Given the description of an element on the screen output the (x, y) to click on. 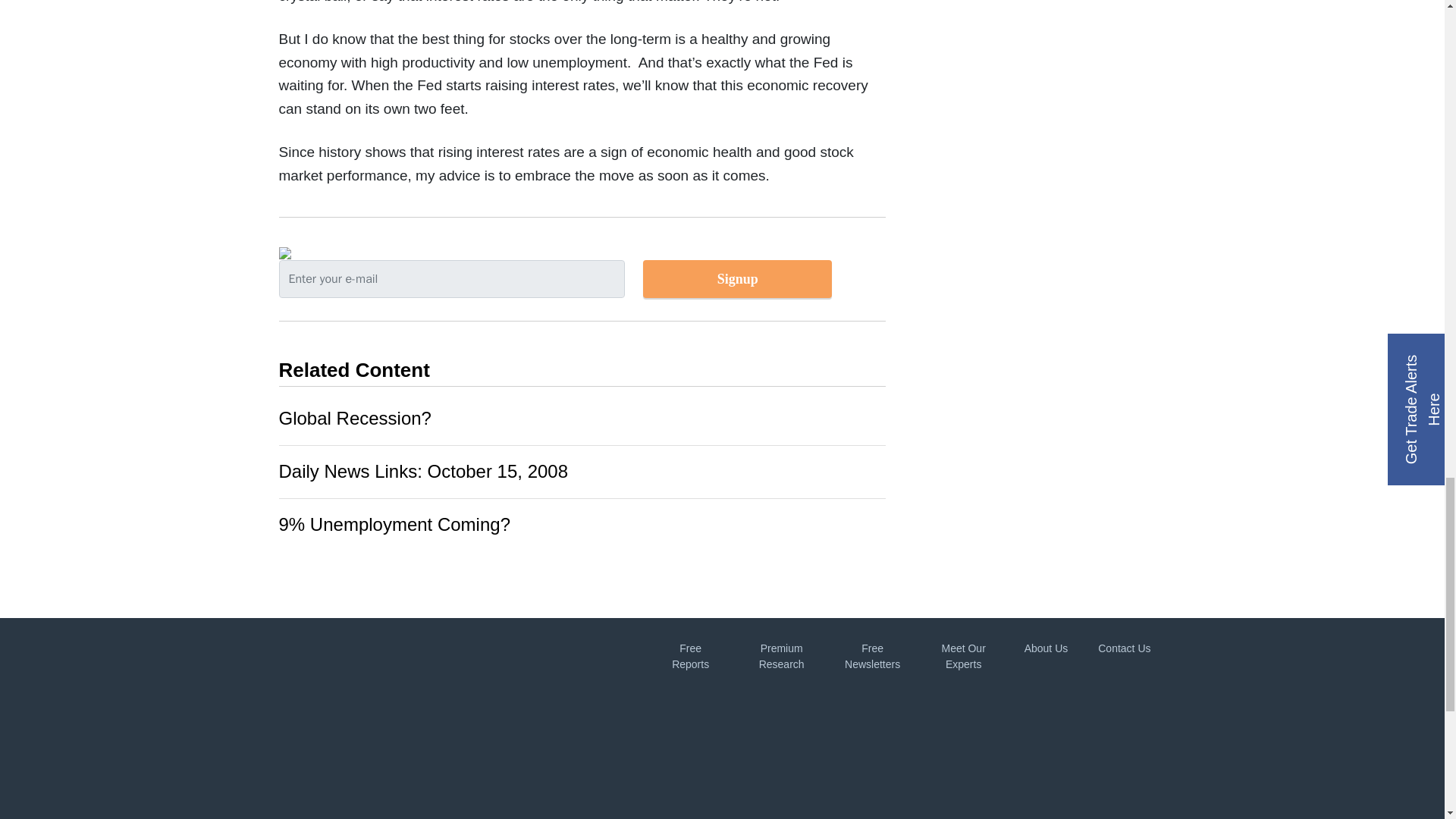
Daily News Links: October 15, 2008 (424, 471)
Free Reports (690, 656)
Signup (737, 279)
Global Recession? (354, 417)
